Given the description of an element on the screen output the (x, y) to click on. 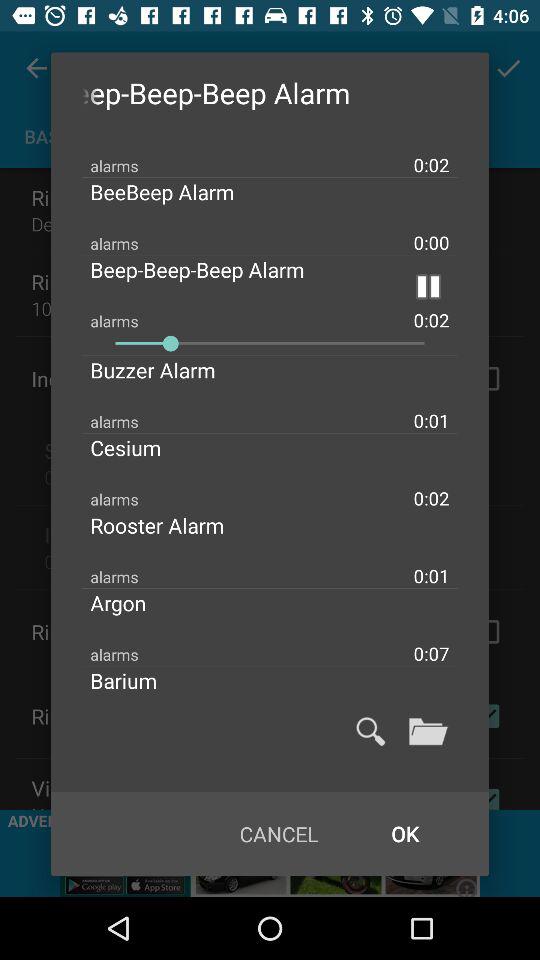
choose item to the left of the ok (278, 833)
